Given the description of an element on the screen output the (x, y) to click on. 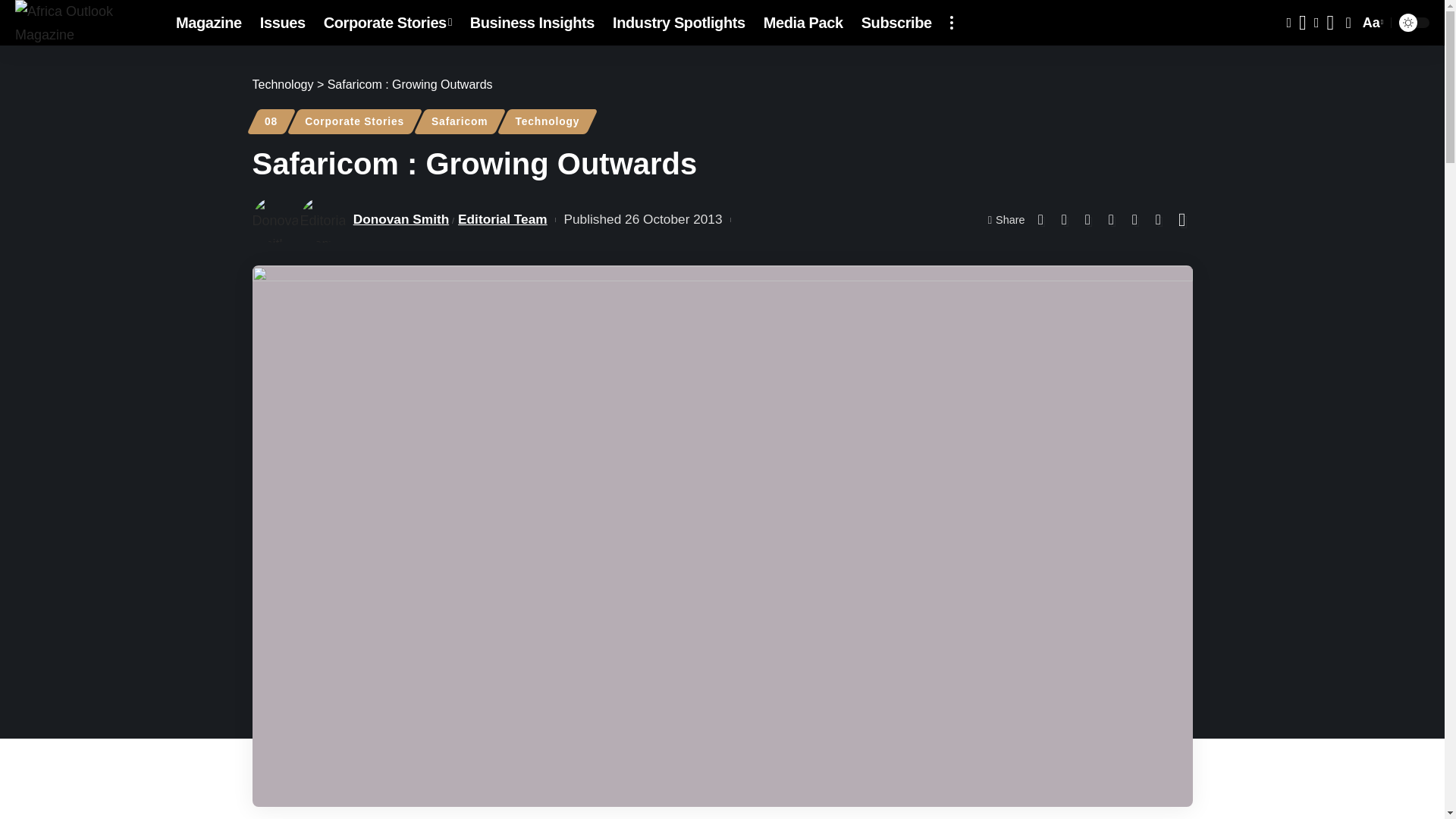
Go to the Technology Category archives. (282, 83)
Media Pack (802, 22)
Business Insights (532, 22)
Industry Spotlights (679, 22)
Subscribe to Africa Outlook Magazine (895, 22)
Subscribe (895, 22)
Africa Outlook Magazine (82, 22)
Corporate Stories (387, 22)
Magazine (208, 22)
Issues (282, 22)
